Given the description of an element on the screen output the (x, y) to click on. 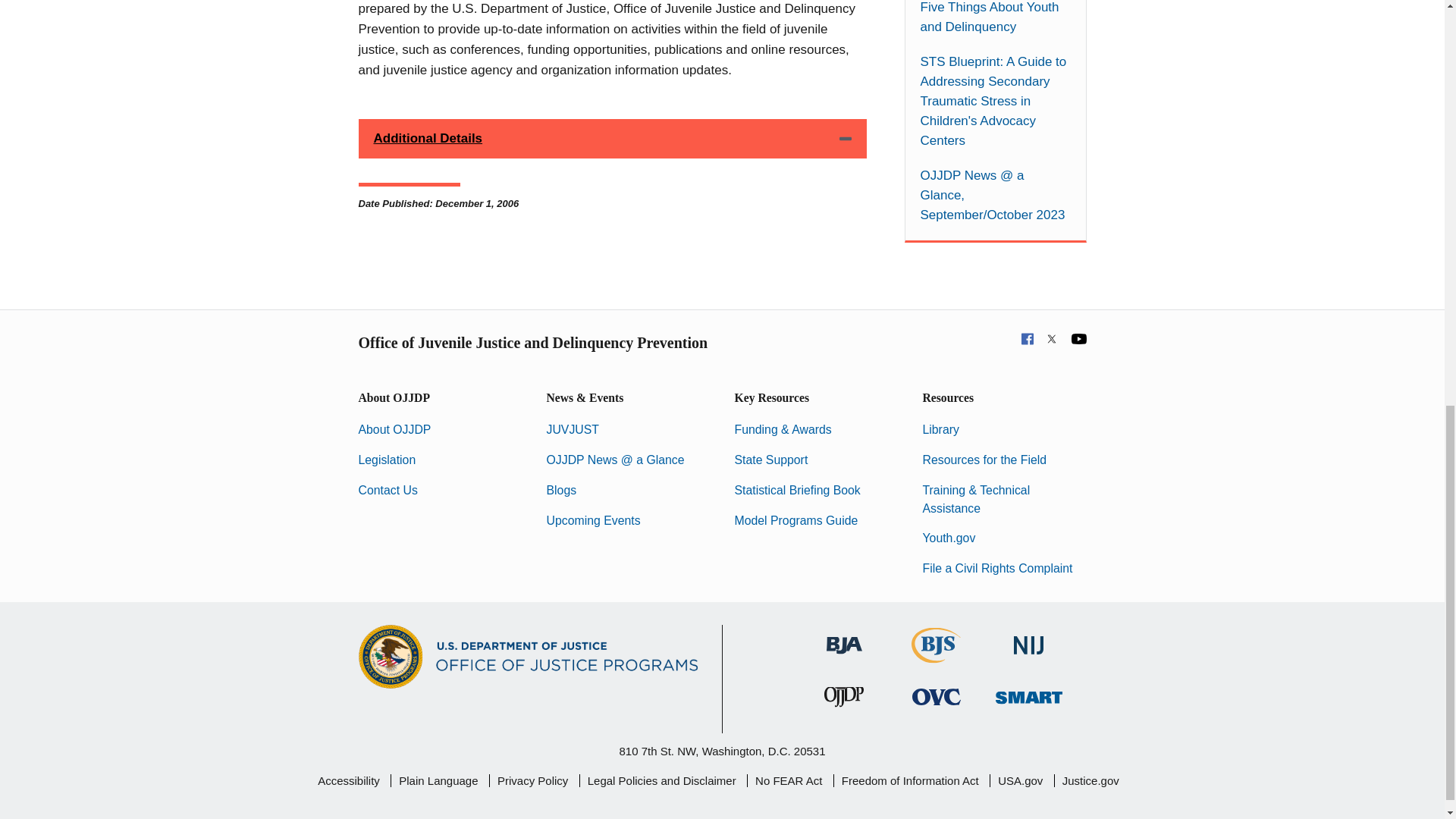
Five Things About Youth and Delinquency (995, 18)
Additional Details (612, 138)
Five Things About Youth and Delinquency (995, 18)
